Given the description of an element on the screen output the (x, y) to click on. 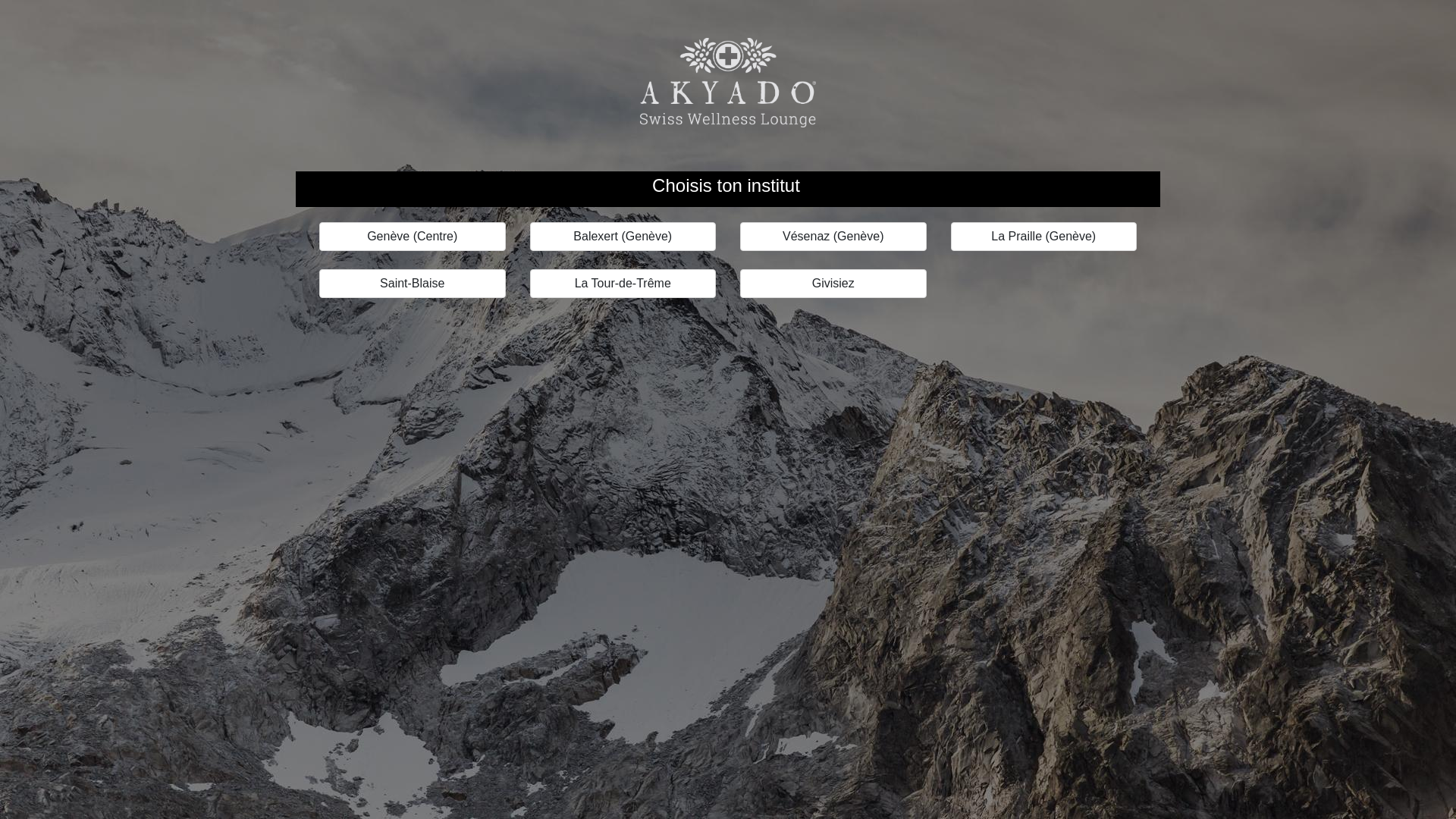
Saint-Blaise Element type: text (412, 283)
Givisiez Element type: text (833, 283)
